Given the description of an element on the screen output the (x, y) to click on. 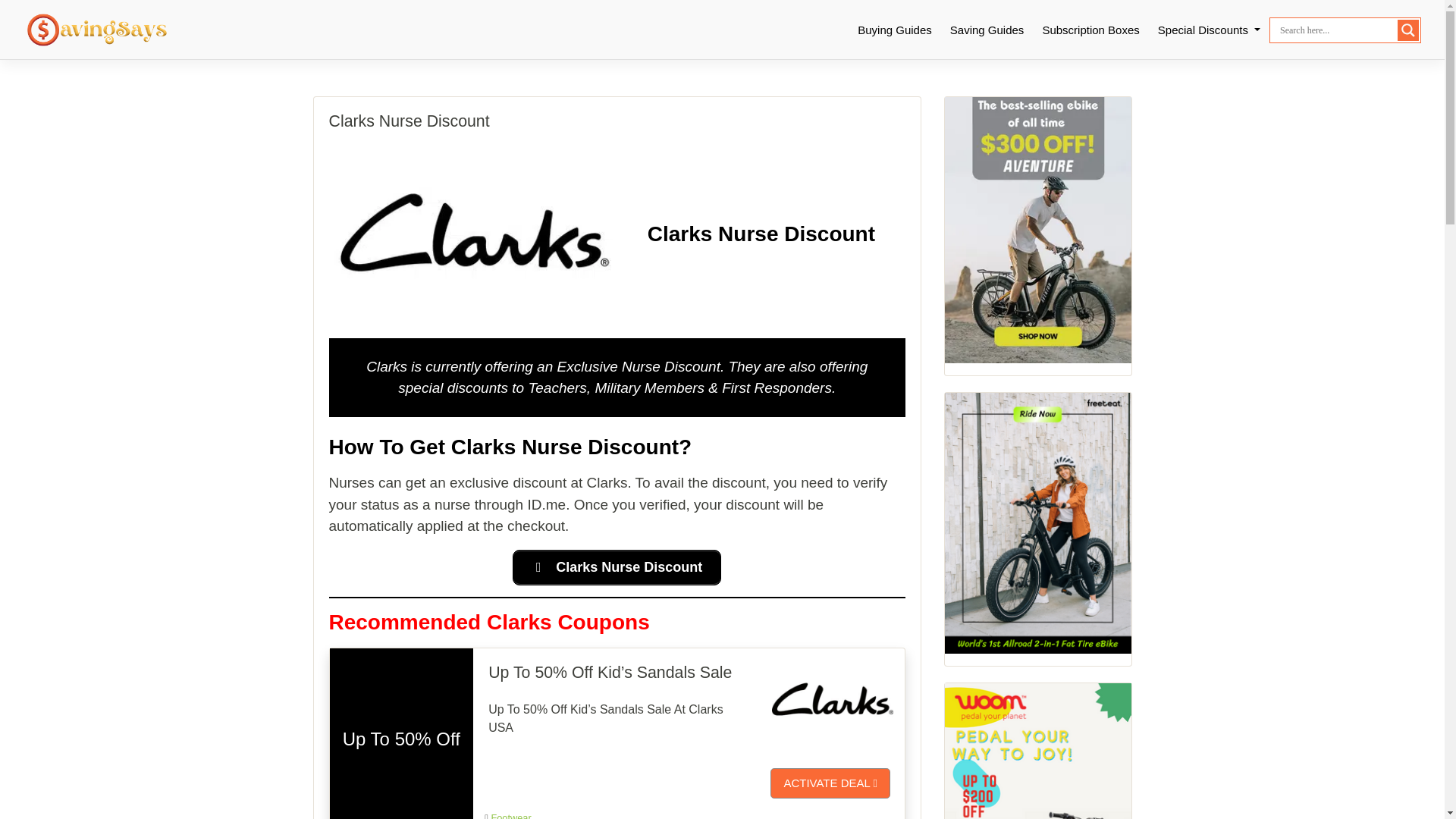
ACTIVATE DEAL (829, 783)
Subscription Boxes (1089, 30)
Clarks Nurse Discount (616, 567)
Subscription boxes (1089, 30)
Buying Guides (894, 30)
Special Discounts (1208, 30)
Special Discounts (1208, 30)
Saving Guides (986, 30)
Saving Guides (986, 30)
Buying Guides (894, 30)
Footwear (510, 815)
